Given the description of an element on the screen output the (x, y) to click on. 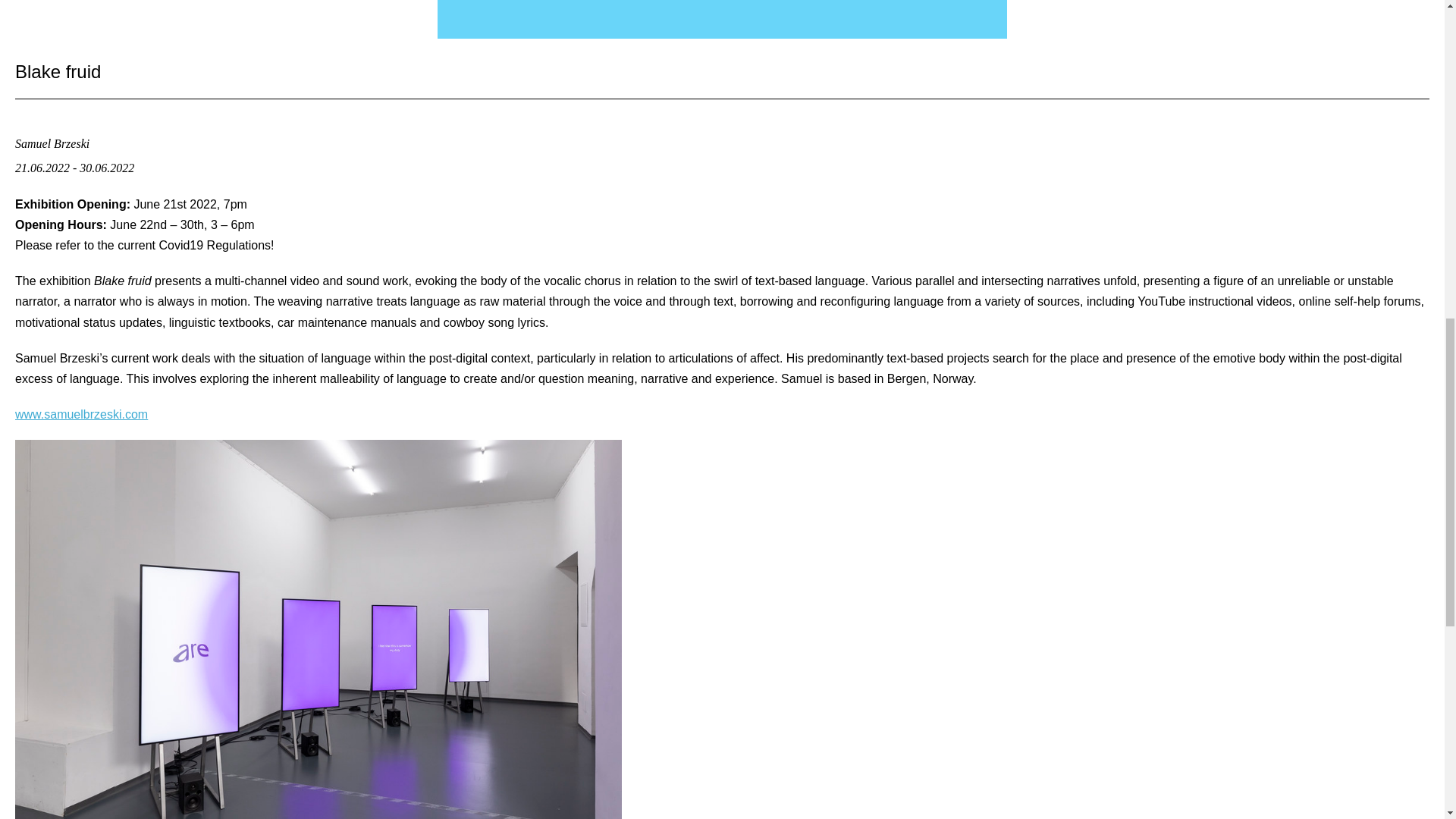
www.samuelbrzeski.com (81, 414)
